Given the description of an element on the screen output the (x, y) to click on. 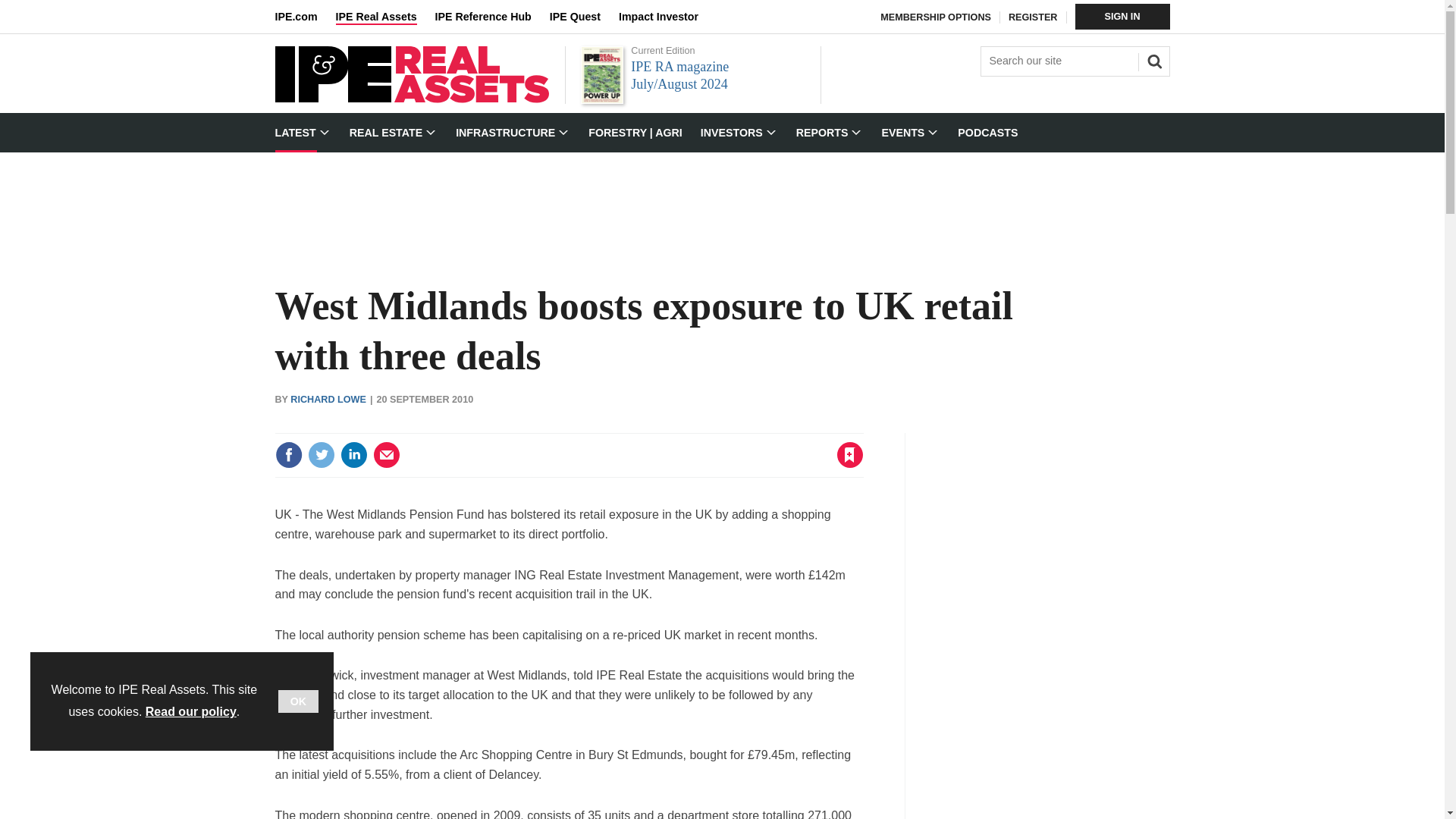
IPE Quest (583, 16)
Email this article (386, 454)
SIGN IN (1122, 16)
Impact Investor (667, 16)
MEMBERSHIP OPTIONS (935, 17)
SEARCH (1152, 59)
REGISTER (1033, 17)
Read our policy (190, 711)
Share this on Twitter (320, 454)
Impact Investor (667, 16)
